Given the description of an element on the screen output the (x, y) to click on. 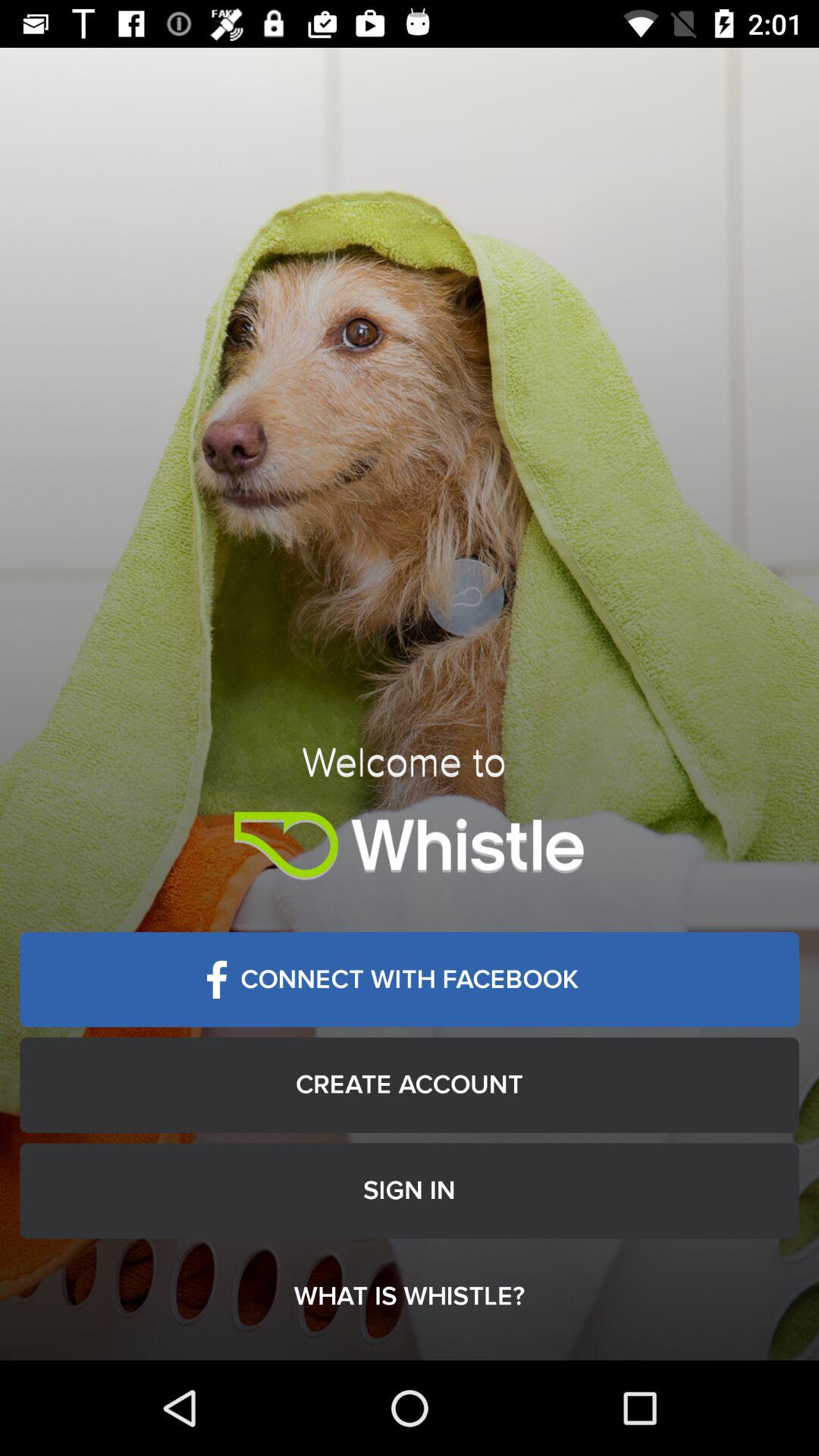
open item above create account icon (409, 979)
